Given the description of an element on the screen output the (x, y) to click on. 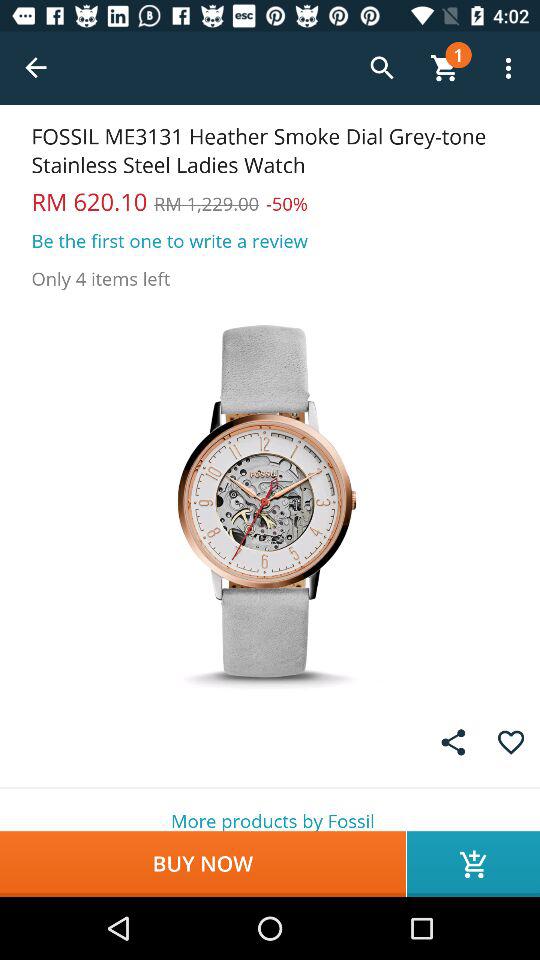
tap the icon above the only 4 items item (169, 240)
